Given the description of an element on the screen output the (x, y) to click on. 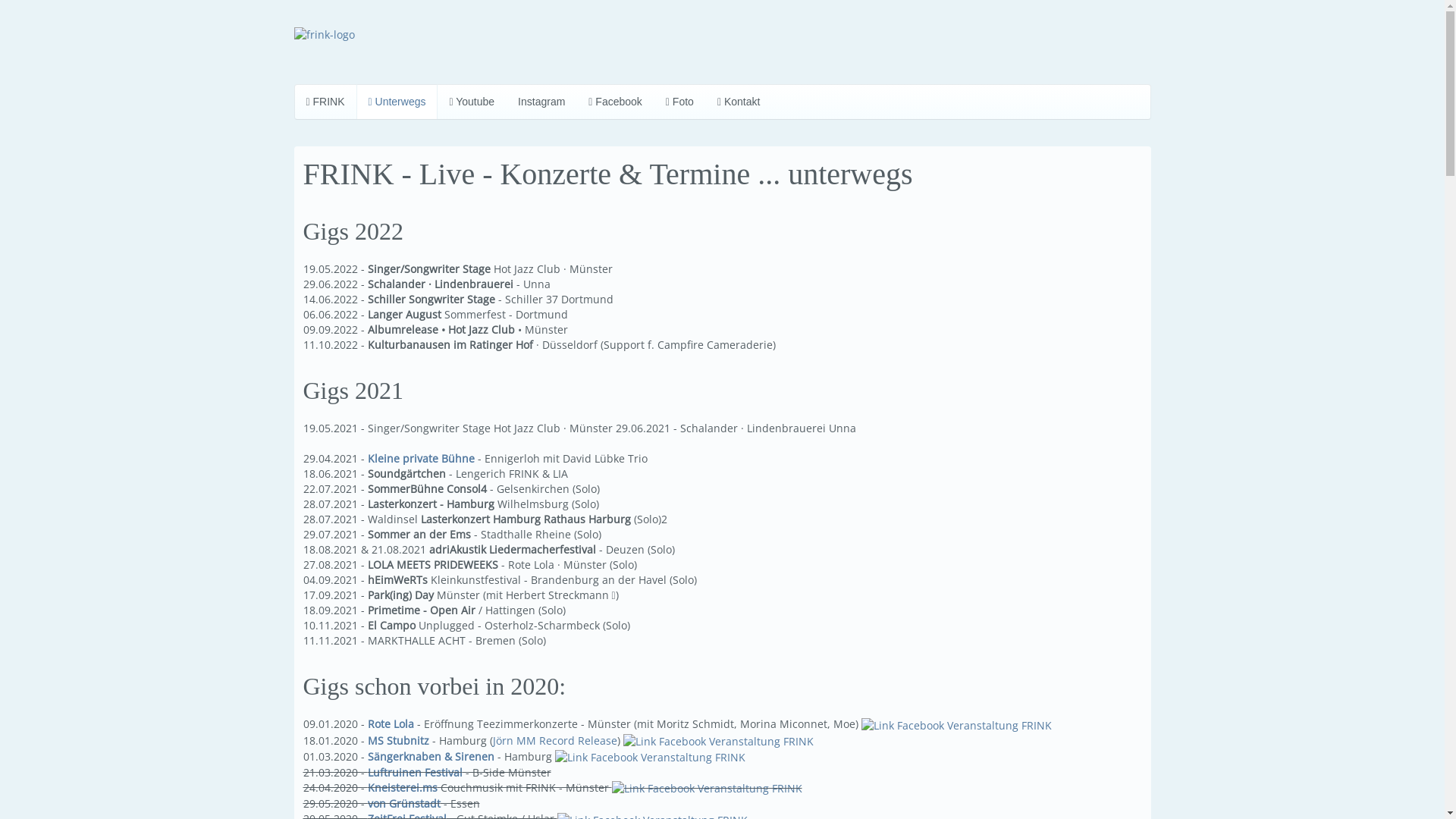
Zur Facebook Veranstaltung Element type: hover (718, 739)
Zur Facebook Veranstaltung Element type: hover (706, 787)
Facebook Element type: text (615, 101)
Rote Lola Element type: text (390, 723)
FRINK Element type: text (325, 101)
Foto Element type: text (679, 101)
Zur Facebook Veranstaltung Element type: hover (650, 756)
Youtube Element type: text (471, 101)
Unterwegs Element type: text (397, 101)
Instagram Element type: text (541, 101)
Kneisterei.ms Element type: text (401, 787)
MS Stubnitz Element type: text (397, 739)
Luftruinen Festival Element type: text (414, 772)
Kontakt Element type: text (738, 101)
Zur Facebook Veranstaltung Element type: hover (956, 723)
